Given the description of an element on the screen output the (x, y) to click on. 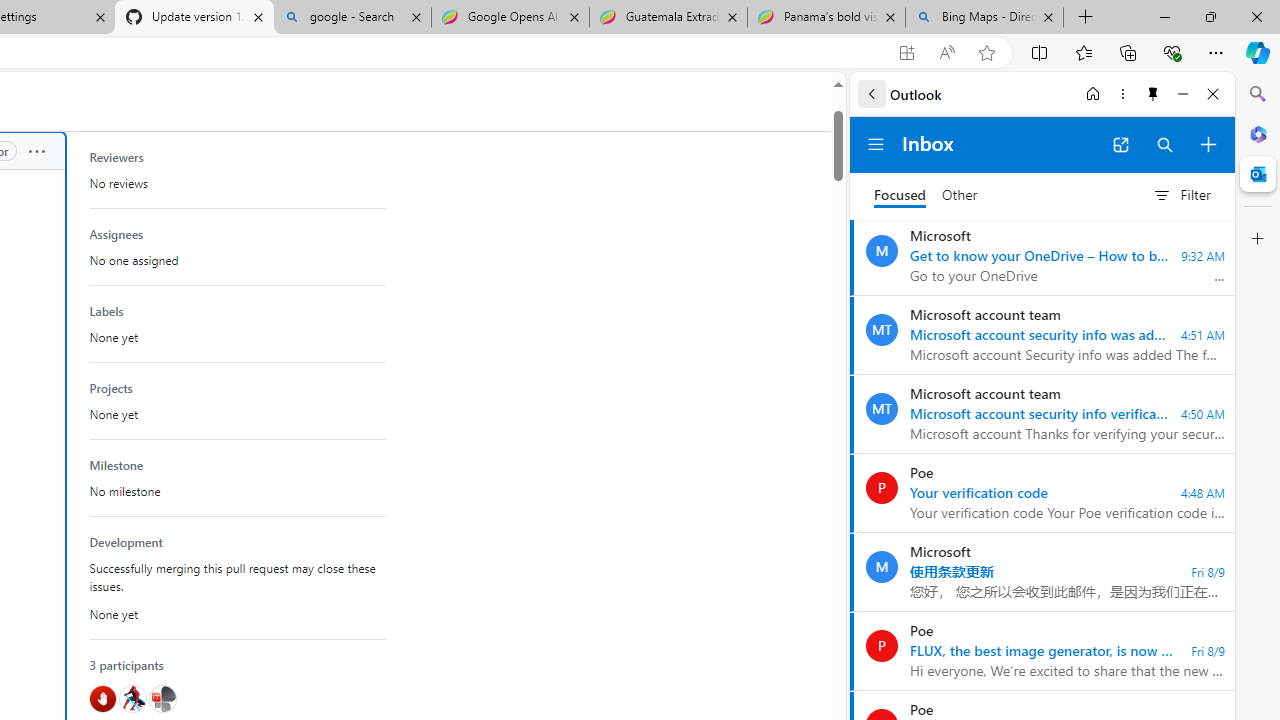
@hawkeye116477 (132, 699)
@blocker999 (102, 699)
Google Opens AI Academy for Startups - Nearshore Americas (509, 17)
@MajkiIT (162, 699)
Other (959, 195)
